Given the description of an element on the screen output the (x, y) to click on. 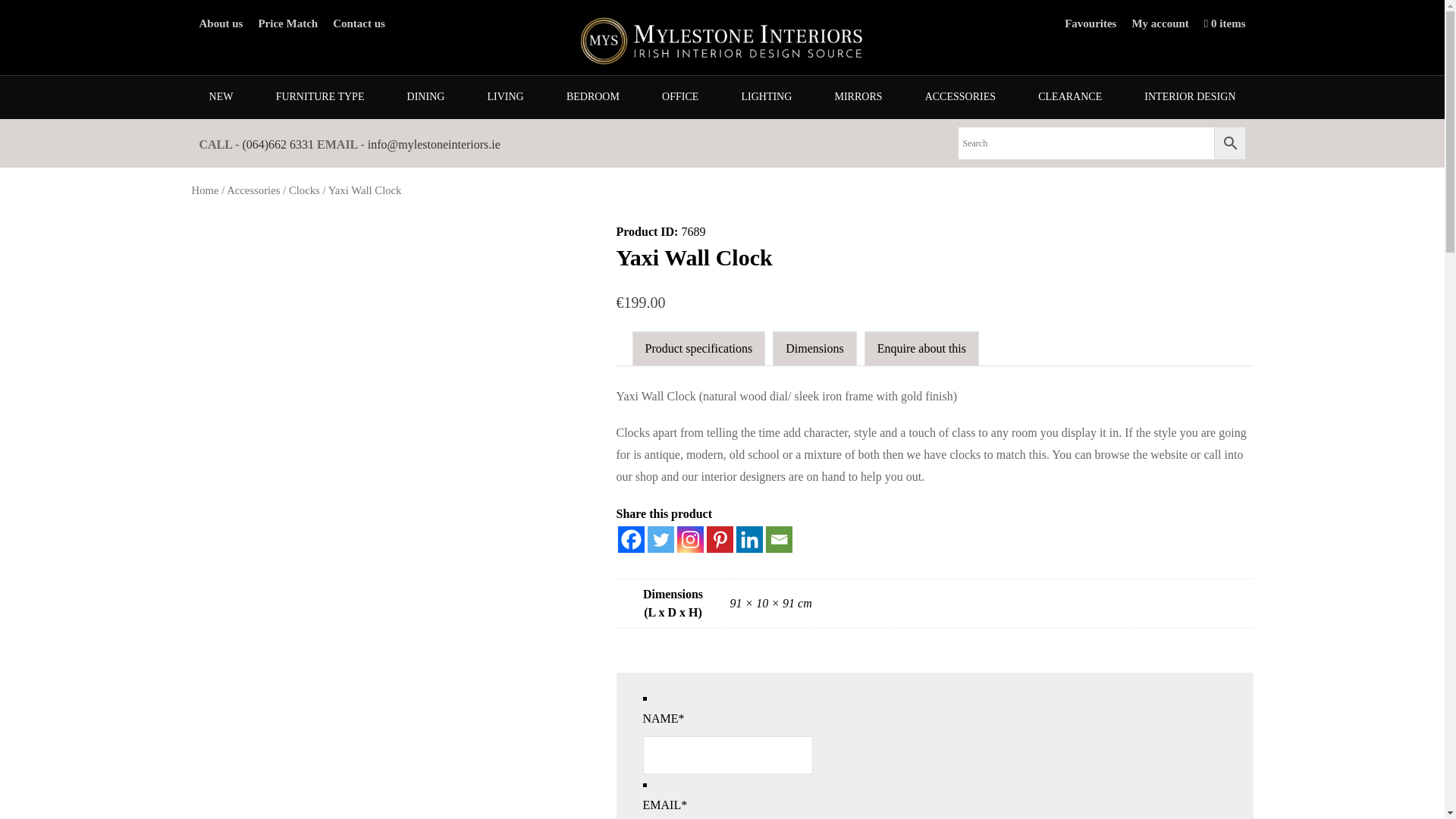
Start shopping (1225, 23)
0 items (1225, 23)
Price Match (287, 23)
NEW (220, 97)
Favourites (1090, 23)
My account (1159, 23)
About us (220, 23)
Contact us (359, 23)
FURNITURE TYPE (320, 97)
DINING (426, 97)
